Given the description of an element on the screen output the (x, y) to click on. 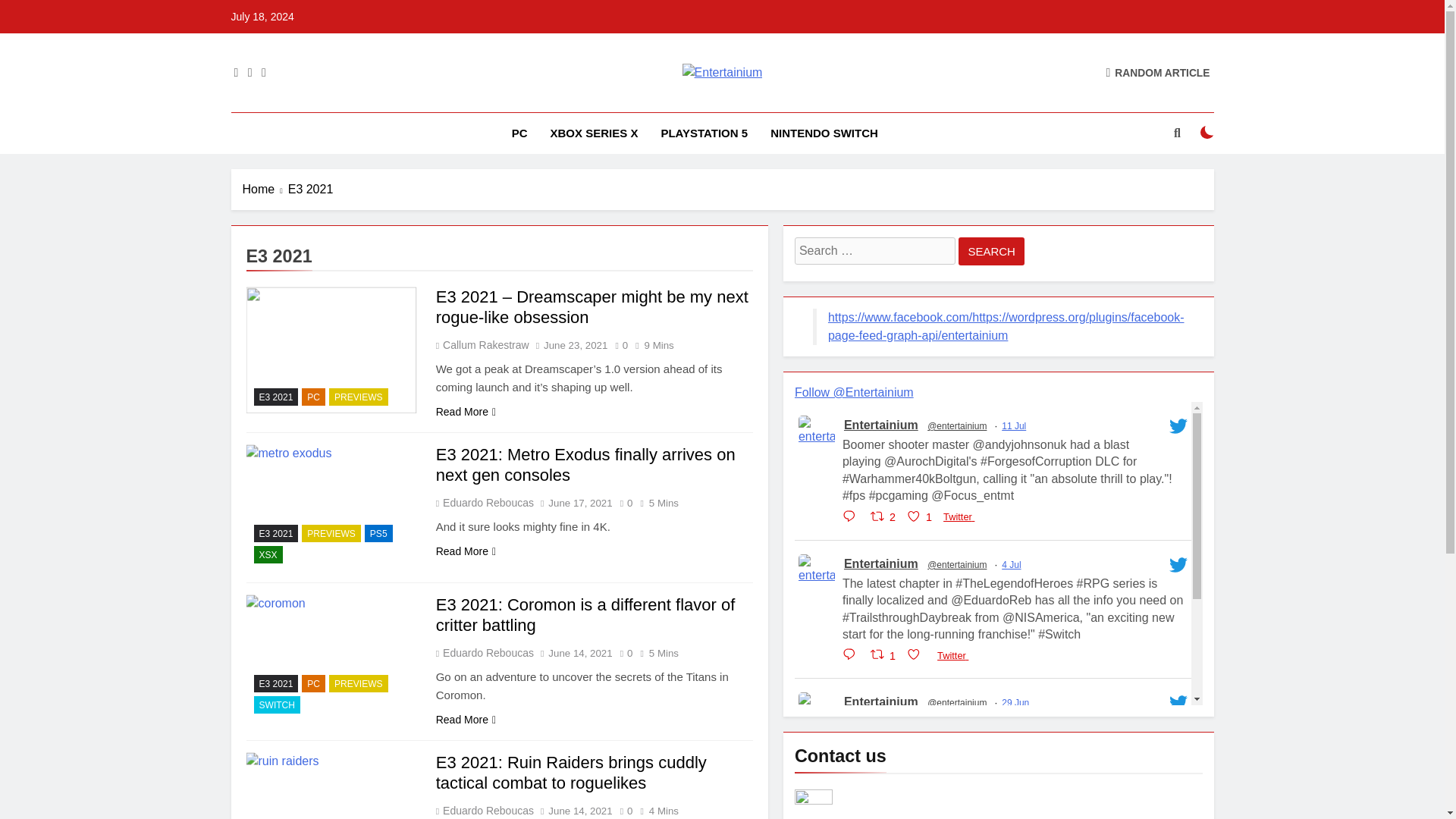
XSX (267, 554)
E3 2021: Metro Exodus finally arrives on next gen consoles (585, 464)
E3 2021: Coromon is a different flavor of critter battling (331, 657)
on (1206, 132)
XBOX SERIES X (593, 133)
Eduardo Reboucas (486, 502)
June 23, 2021 (575, 345)
Read More (465, 551)
Search (991, 251)
Search (991, 251)
PREVIEWS (331, 533)
E3 2021: Coromon is a different flavor of critter battling (585, 614)
0 (617, 344)
June 17, 2021 (579, 502)
